Given the description of an element on the screen output the (x, y) to click on. 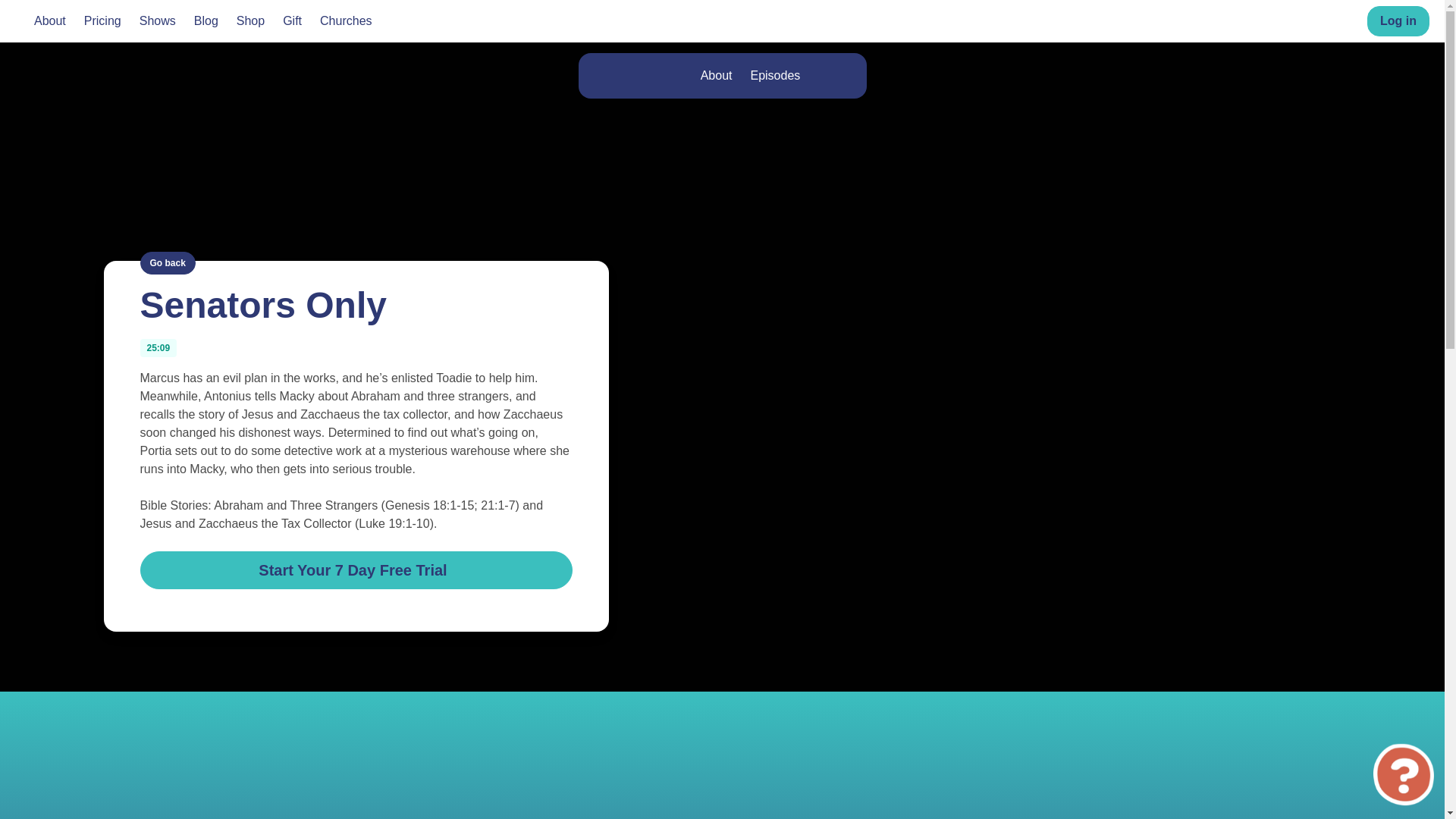
Churches (345, 21)
Gift (291, 21)
Log in (1398, 20)
Episodes (775, 75)
Start Your 7 Day Free Trial (355, 569)
Go back (167, 262)
Shop (249, 21)
About (49, 21)
Shows (157, 21)
Pricing (102, 21)
